Given the description of an element on the screen output the (x, y) to click on. 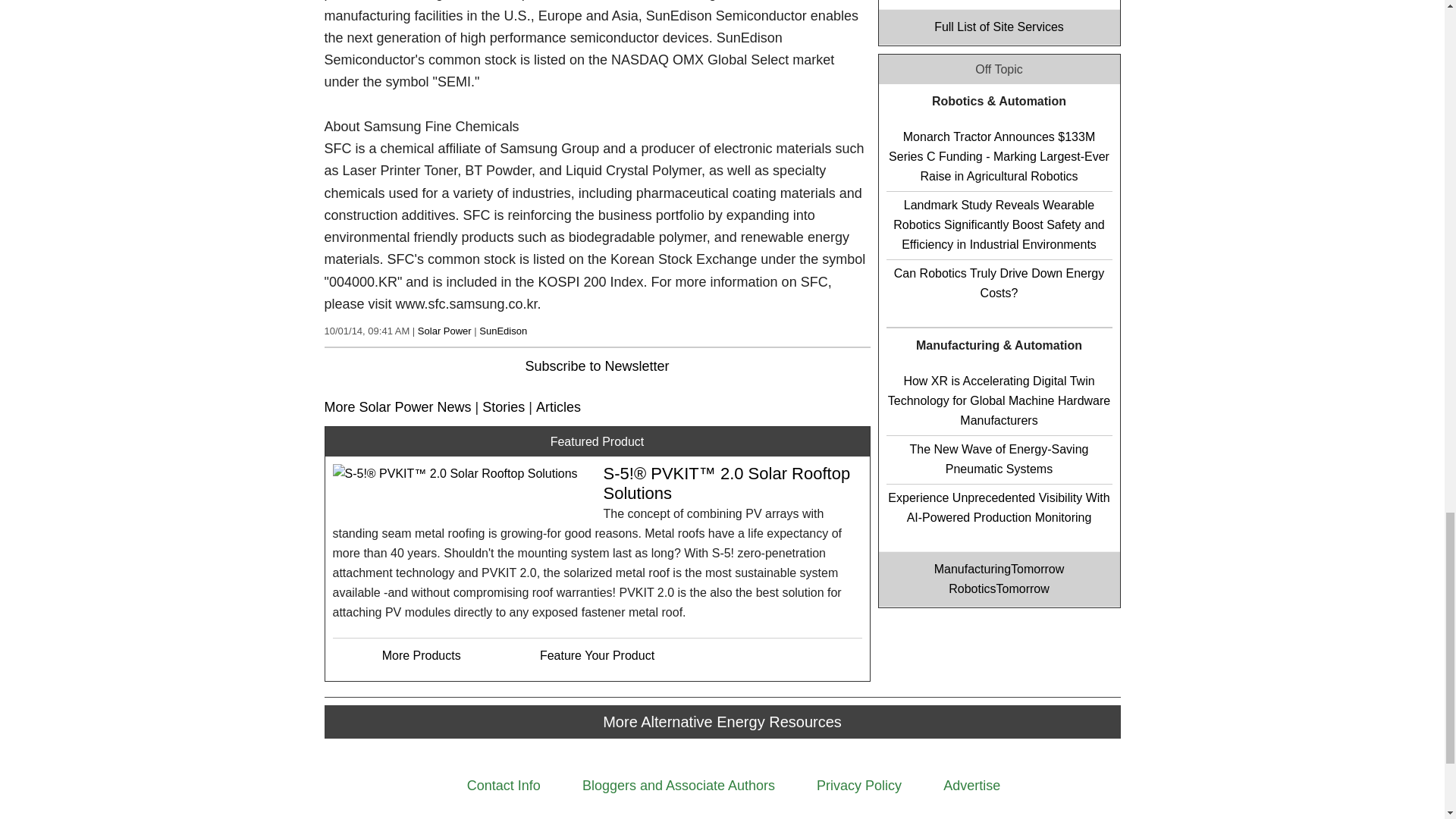
Articles (557, 406)
Solar Power (444, 330)
SunEdison (503, 330)
Stories (502, 406)
Subscribe to Newsletter (596, 365)
More Solar Power News (397, 406)
